Given the description of an element on the screen output the (x, y) to click on. 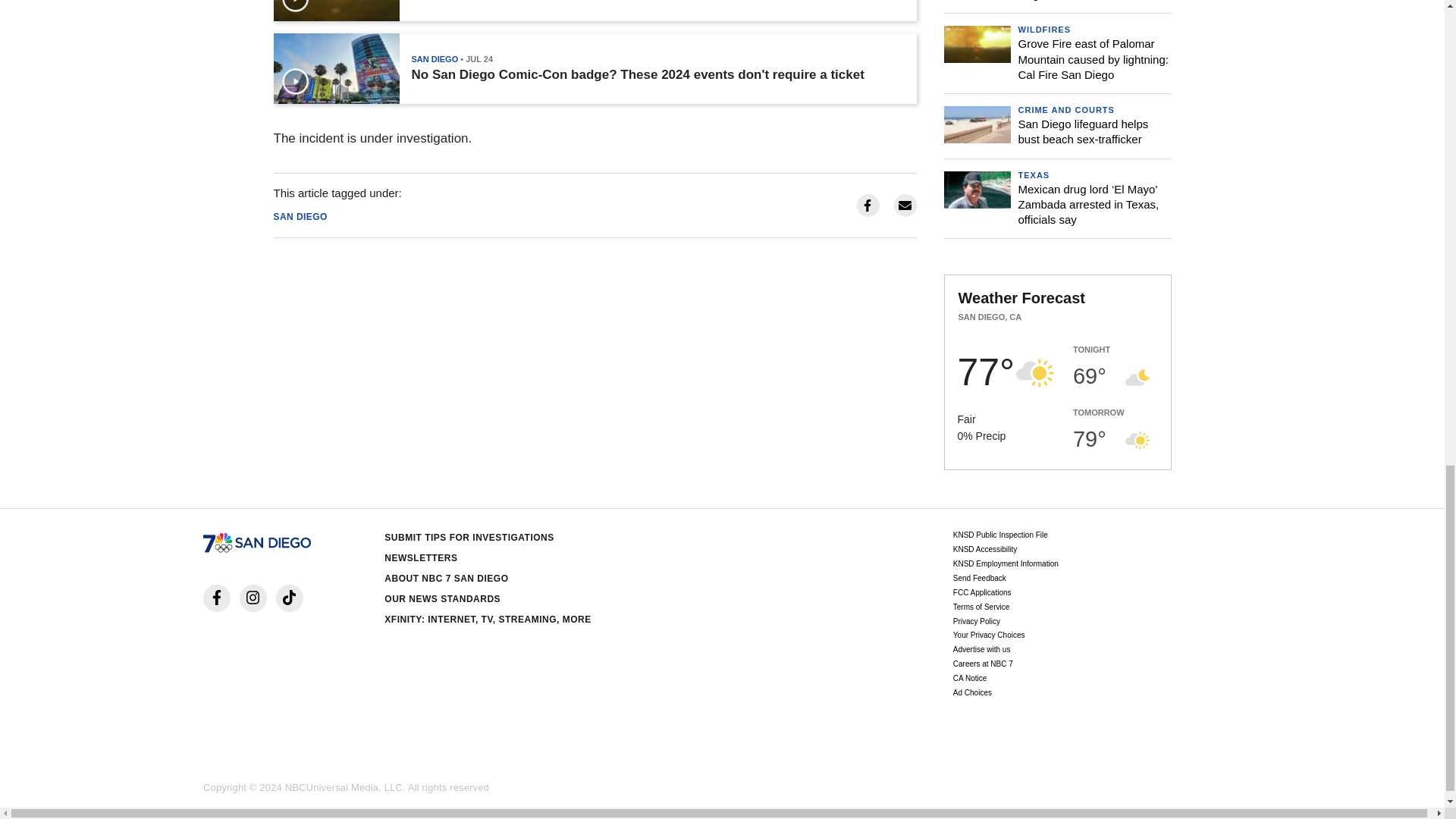
SAN DIEGO (434, 58)
SAN DIEGO (299, 216)
